Given the description of an element on the screen output the (x, y) to click on. 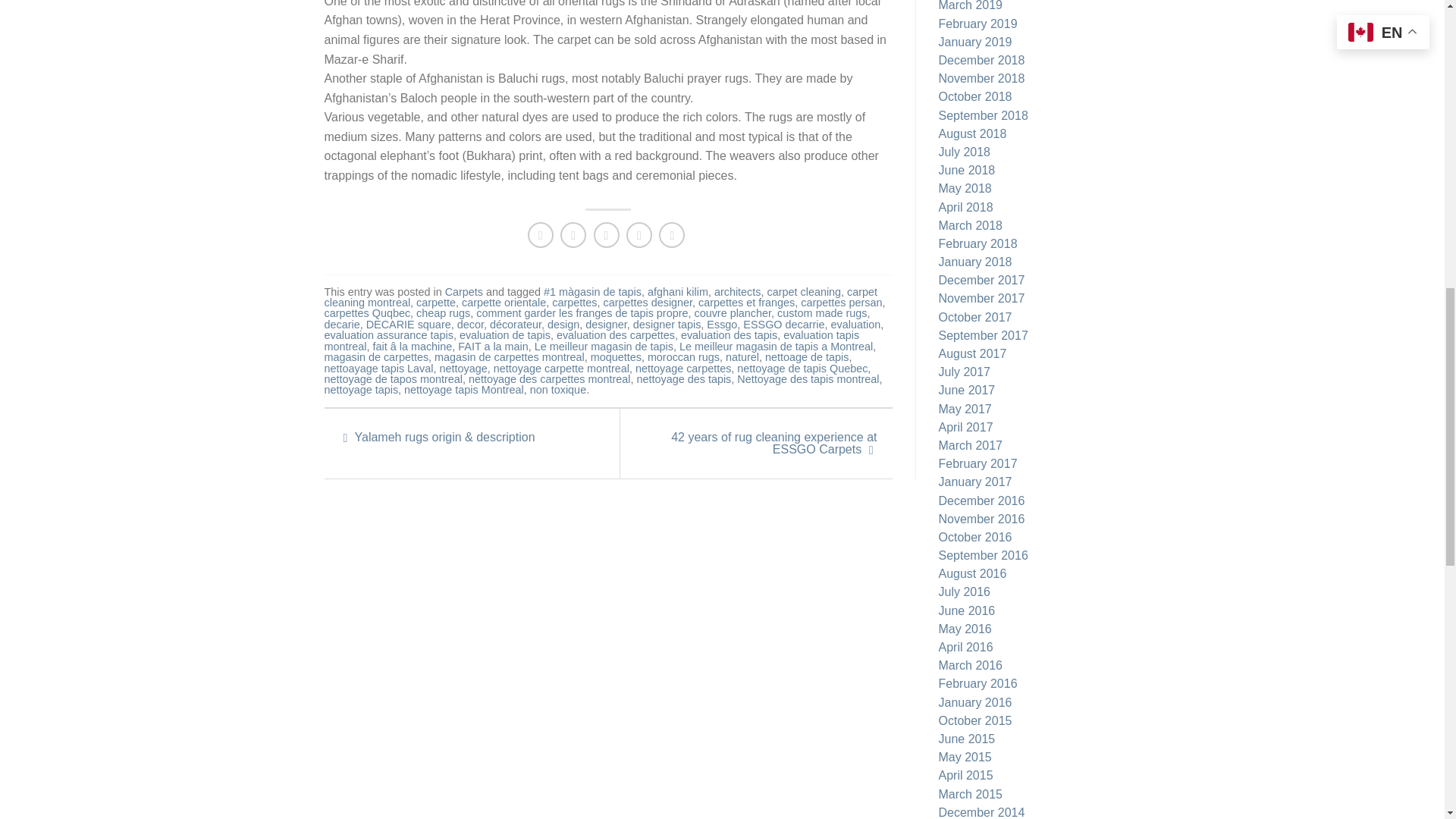
Carpets (464, 291)
carpet cleaning montreal (600, 296)
architects (737, 291)
afghani kilim (677, 291)
carpette (435, 302)
carpet cleaning (804, 291)
